Given the description of an element on the screen output the (x, y) to click on. 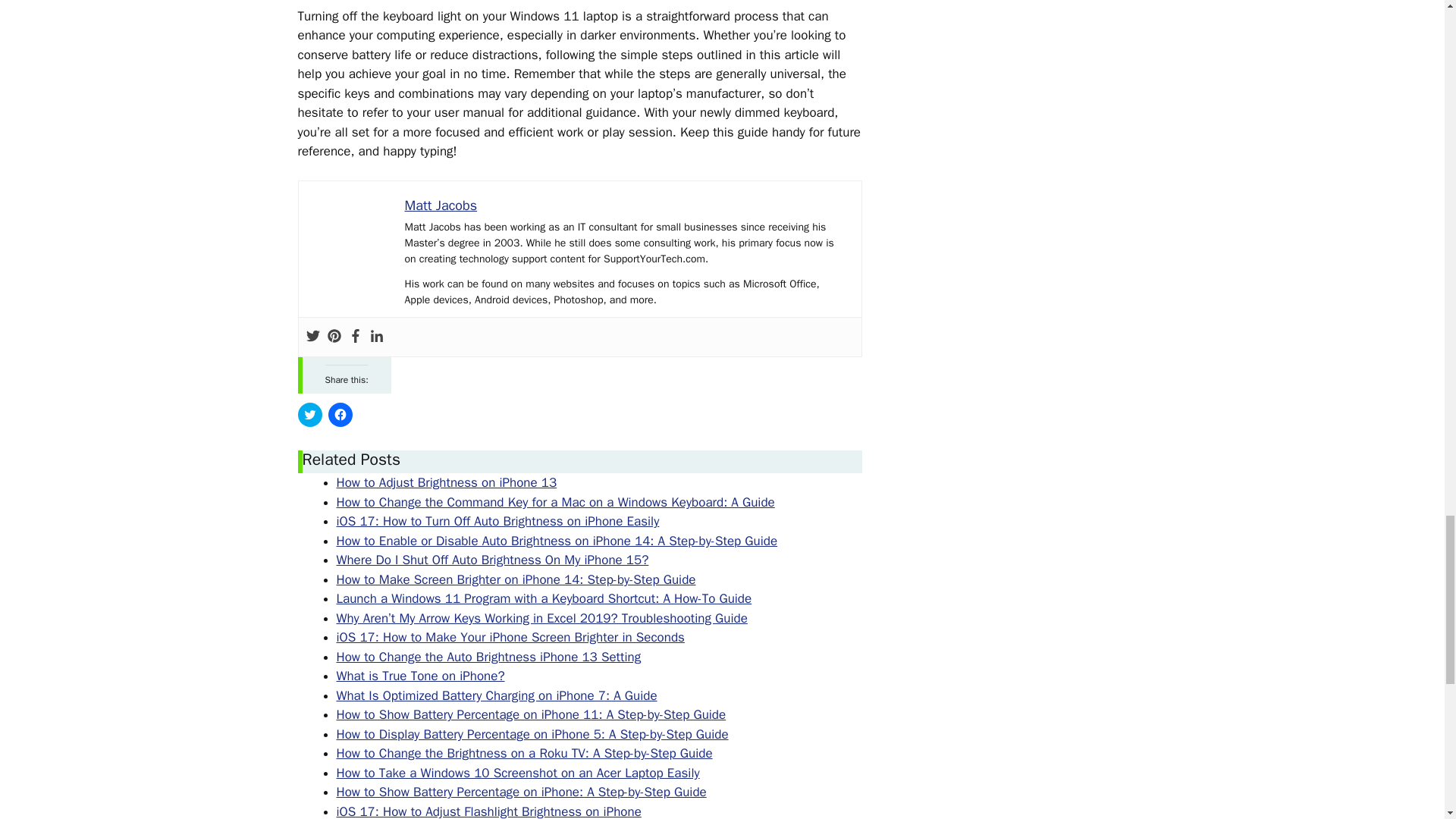
iOS 17: How to Turn Off Auto Brightness on iPhone Easily (497, 521)
iOS 17: How to Make Your iPhone Screen Brighter in Seconds (510, 637)
How to Make Screen Brighter on iPhone 14: Step-by-Step Guide (515, 579)
What is True Tone on iPhone? (420, 675)
How to Adjust Brightness on iPhone 13 (446, 482)
What Is Optimized Battery Charging on iPhone 7: A Guide (497, 695)
Where Do I Shut Off Auto Brightness On My iPhone 15? (492, 560)
